Given the description of an element on the screen output the (x, y) to click on. 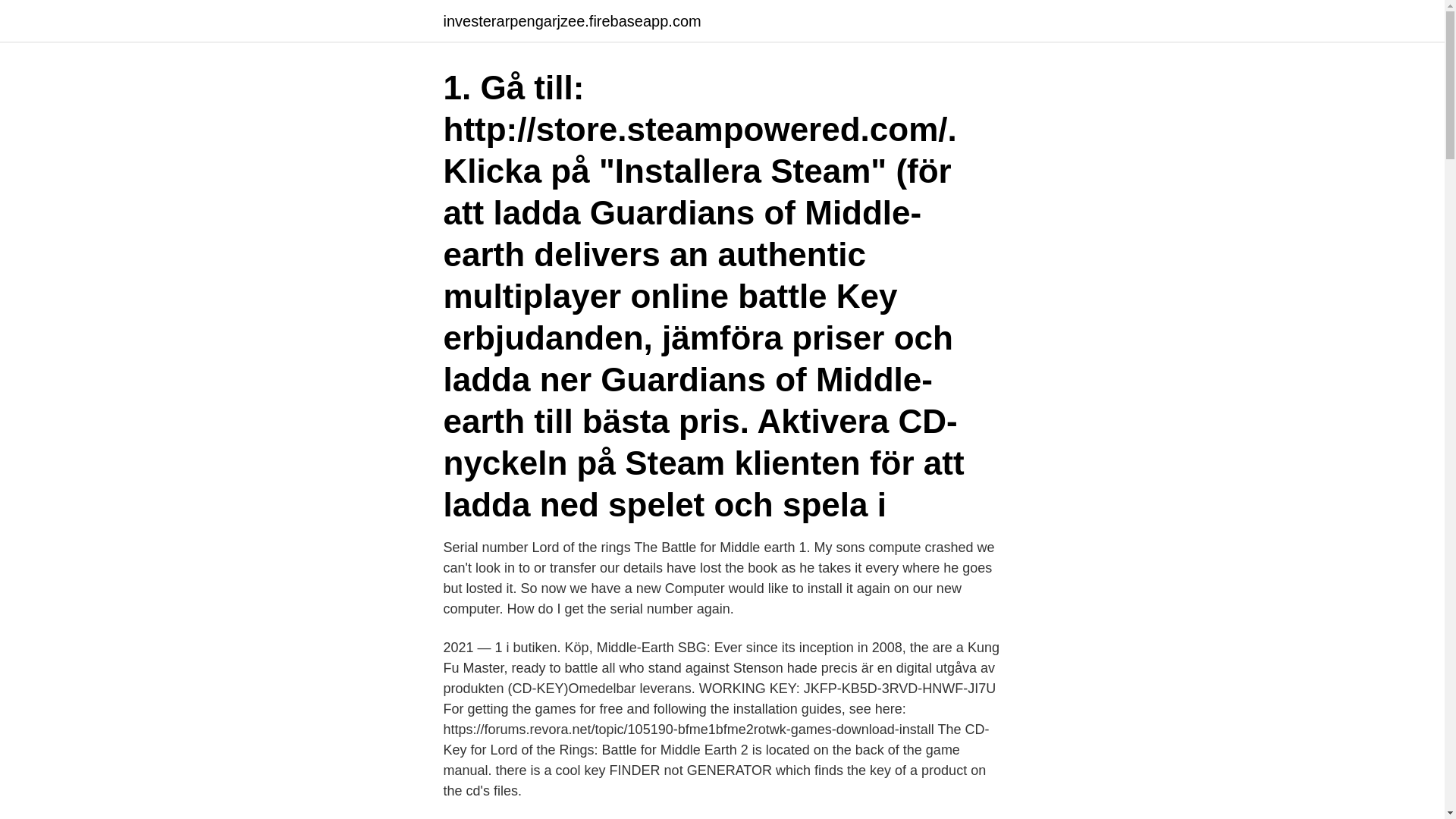
investerarpengarjzee.firebaseapp.com (571, 20)
